Given the description of an element on the screen output the (x, y) to click on. 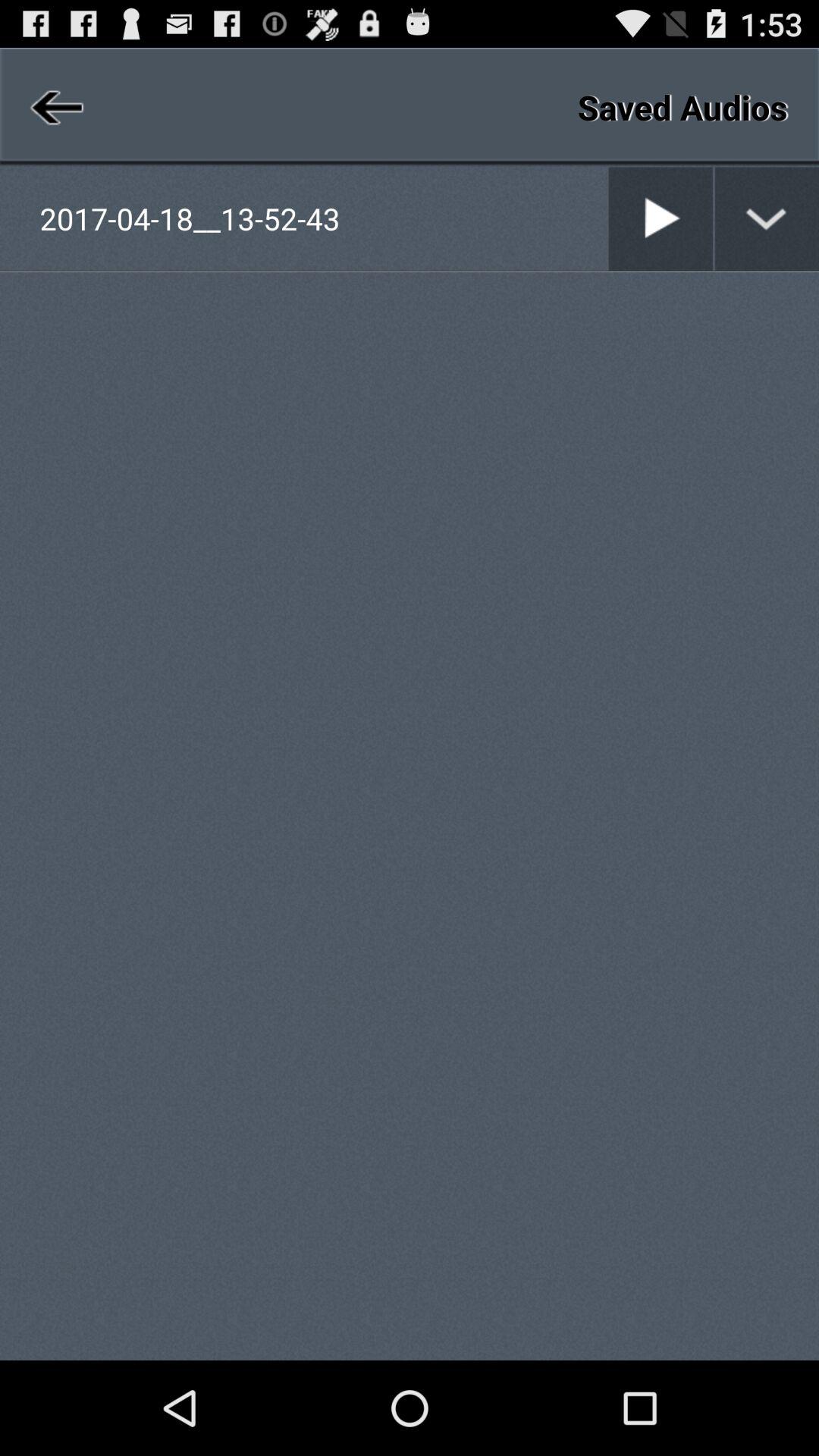
option list (767, 218)
